Given the description of an element on the screen output the (x, y) to click on. 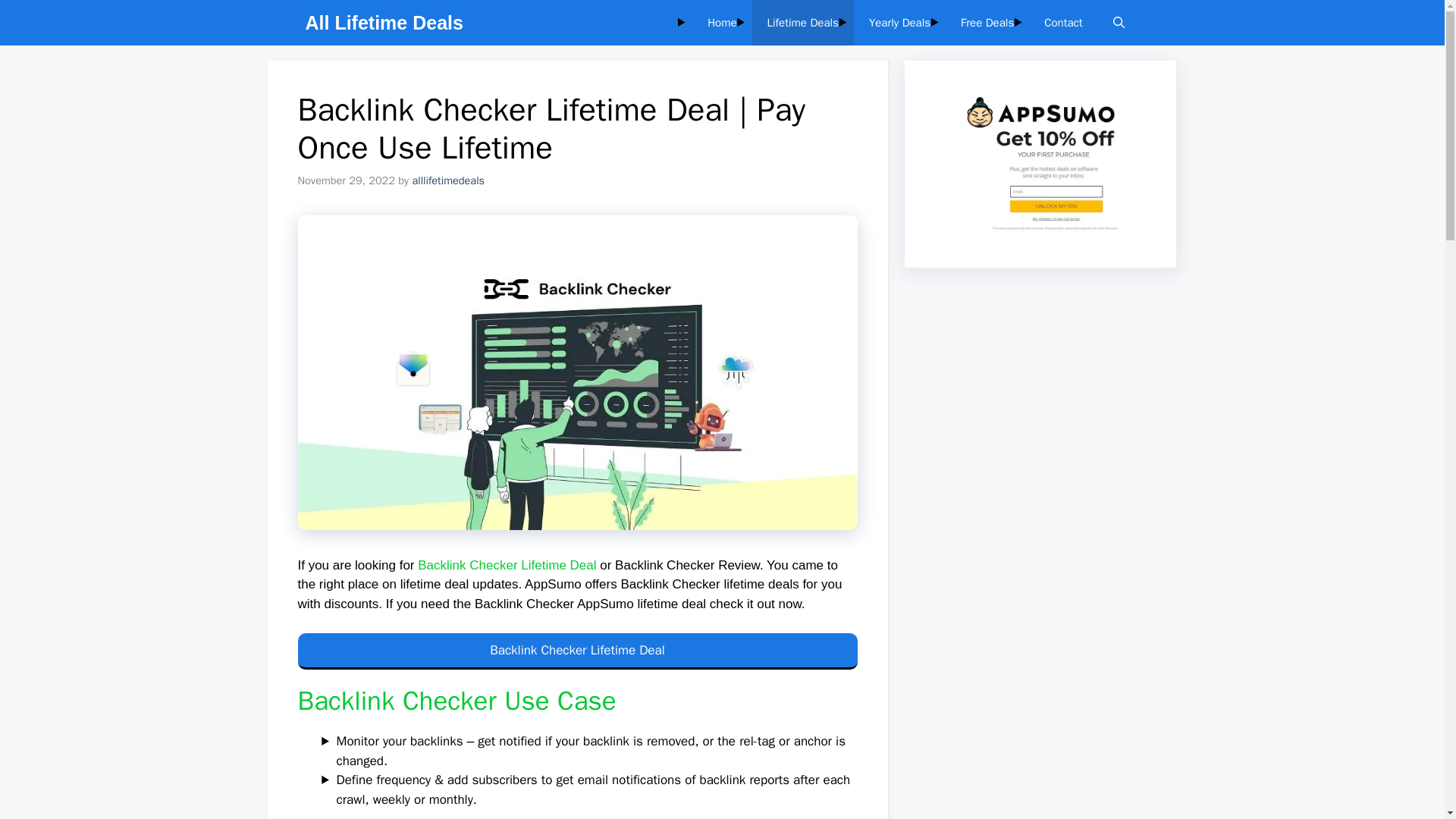
Yearly Deals (898, 22)
Lifetime Deals (802, 22)
Contact (1063, 22)
Free Deals (986, 22)
View all posts by alllifetimedeals (448, 180)
alllifetimedeals (448, 180)
Backlink Checker Lifetime Deal (506, 564)
Backlink Checker Lifetime Deal (577, 651)
All Lifetime Deals (383, 22)
Home (722, 22)
